Given the description of an element on the screen output the (x, y) to click on. 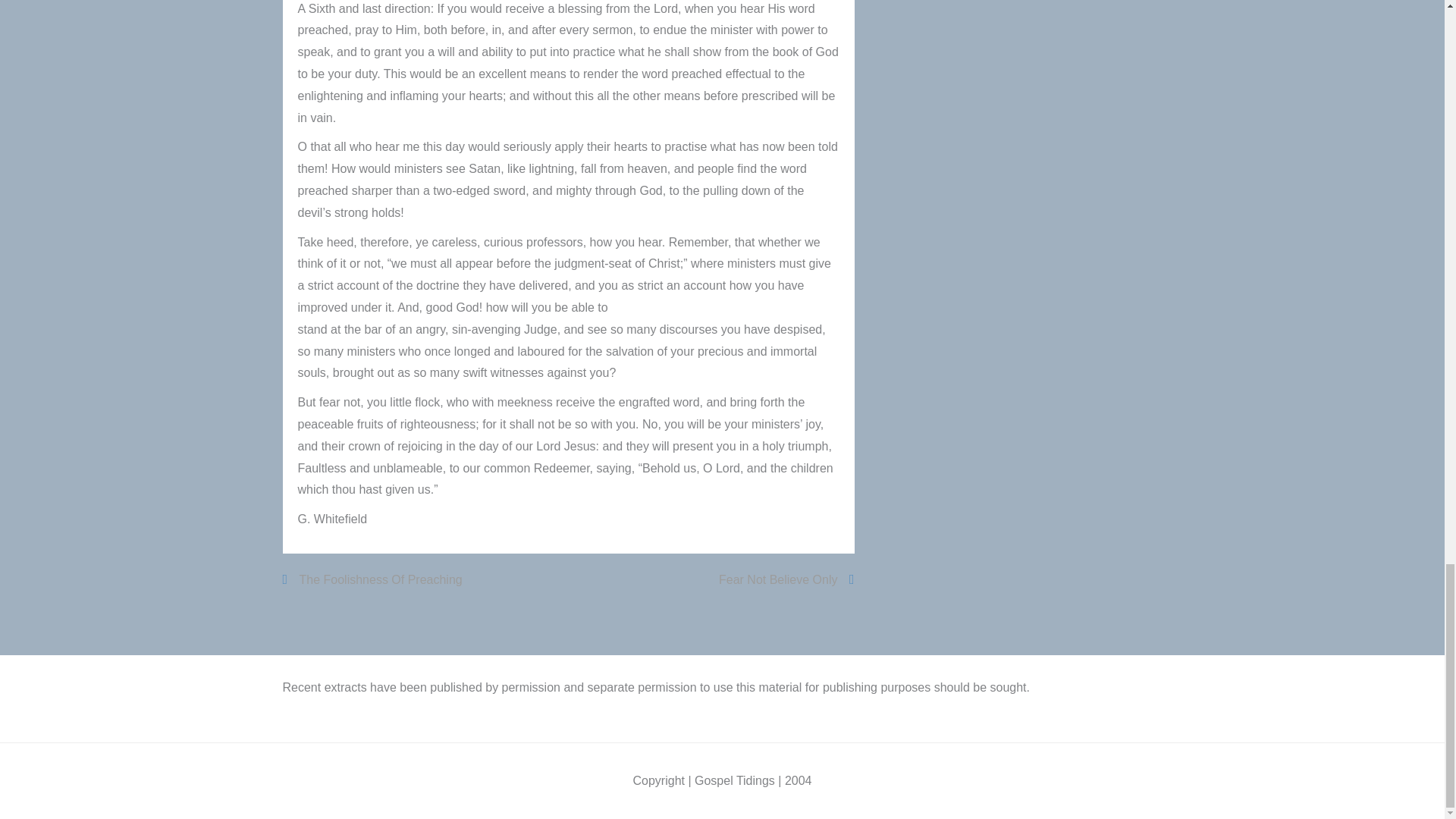
The Foolishness Of Preaching (372, 579)
Fear Not Believe Only (786, 579)
